Given the description of an element on the screen output the (x, y) to click on. 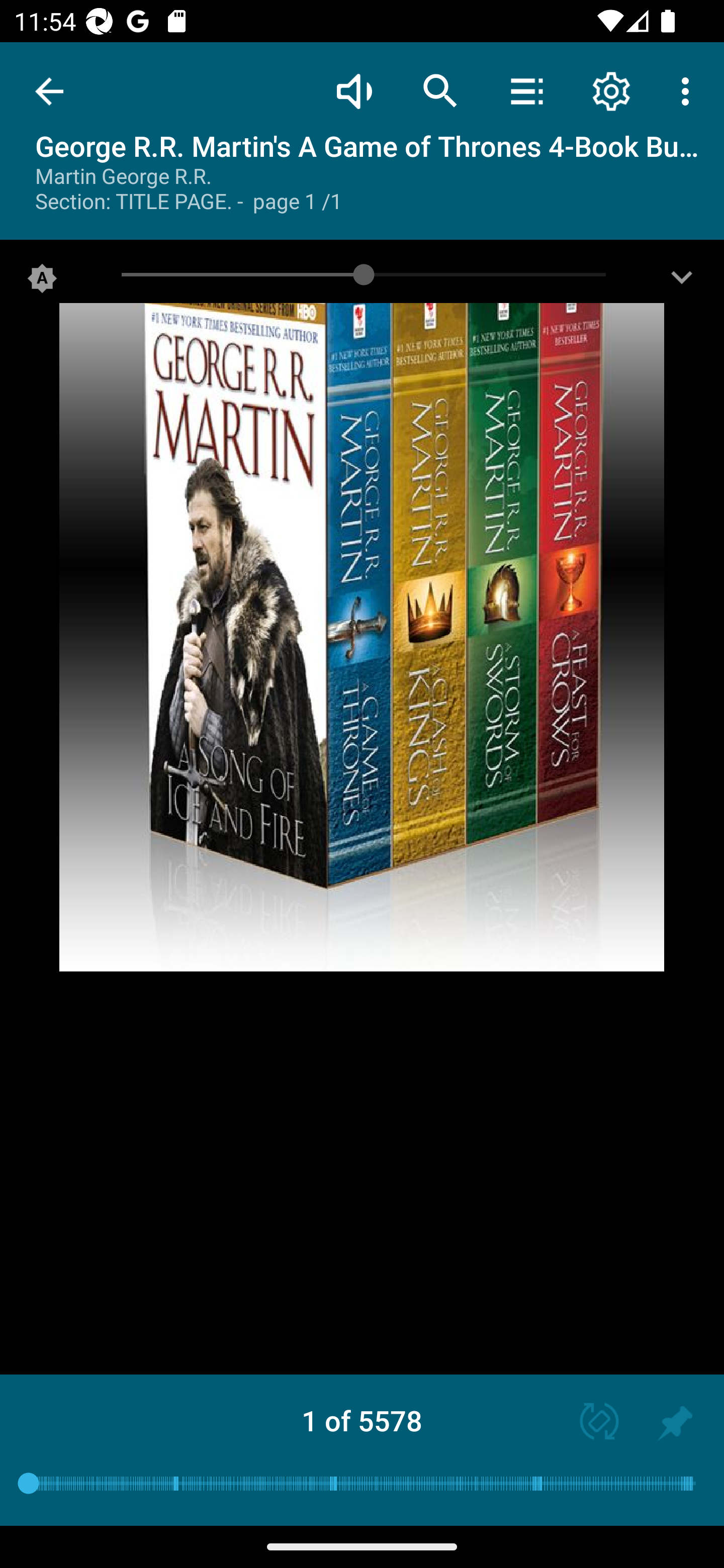
Exit reading (49, 91)
Read aloud (354, 90)
Text search (440, 90)
Contents / Bookmarks / Quotes (526, 90)
Reading settings (611, 90)
More options (688, 90)
Selected screen brightness (42, 281)
Screen brightness settings (681, 281)
1 of 5578 (361, 1420)
Screen orientation (590, 1423)
Add to history (674, 1423)
